Given the description of an element on the screen output the (x, y) to click on. 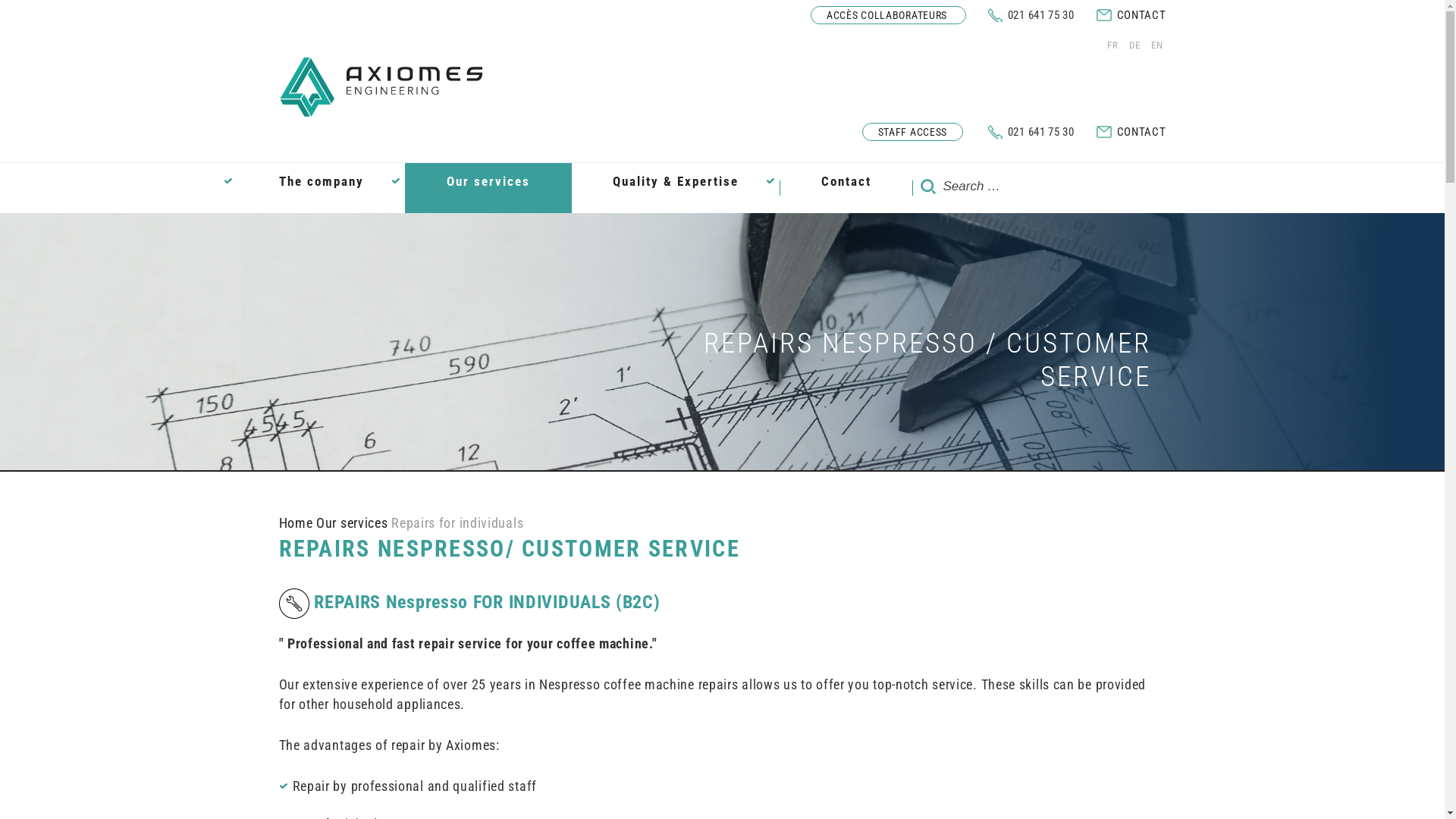
STAFF ACCESS Element type: text (912, 131)
Quality & Expertise Element type: text (674, 188)
Our services Element type: text (351, 522)
CONTACT Element type: text (1141, 14)
FR Element type: text (1111, 44)
DE Element type: text (1132, 44)
Home Element type: text (296, 522)
Our services Element type: text (487, 188)
CONTACT Element type: text (1141, 131)
EN Element type: text (1154, 44)
Contact Element type: text (846, 188)
The company Element type: text (320, 188)
